Given the description of an element on the screen output the (x, y) to click on. 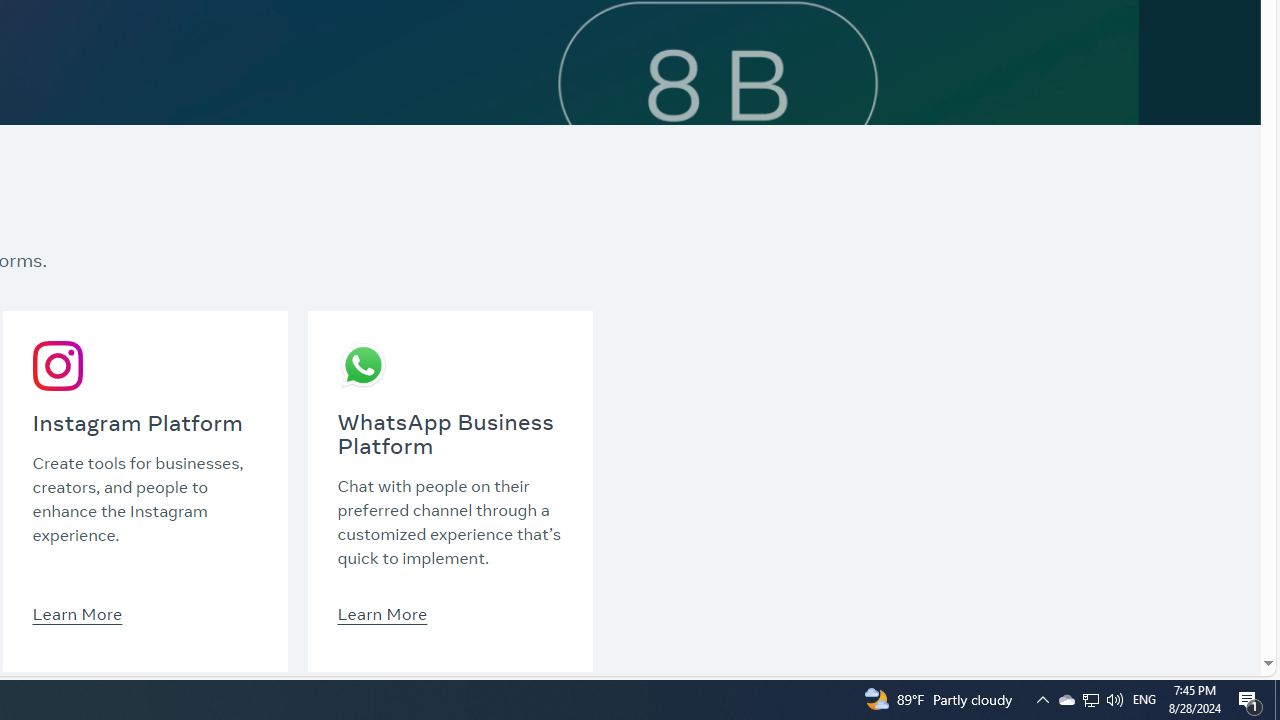
Learn More (381, 613)
